Given the description of an element on the screen output the (x, y) to click on. 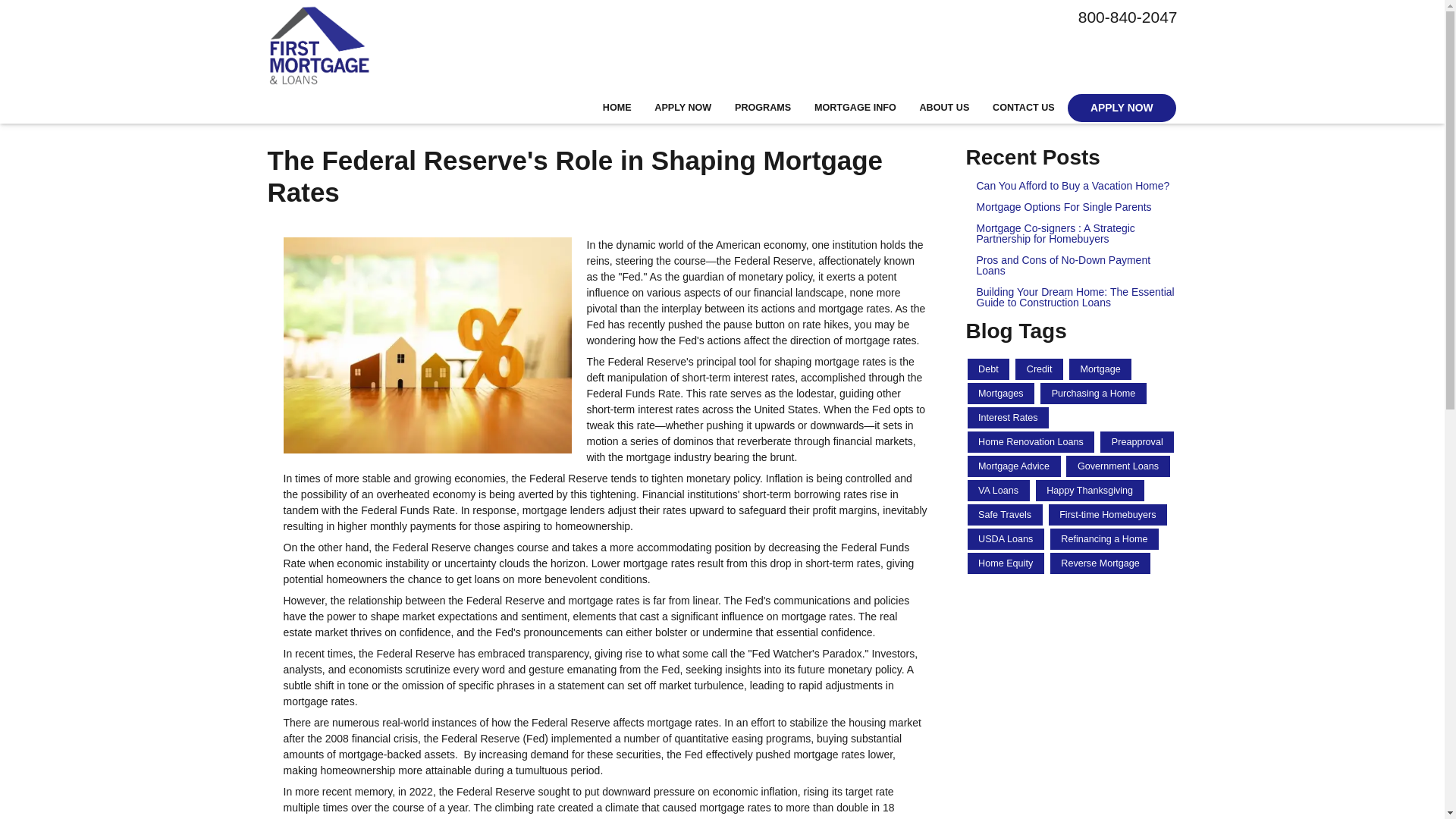
Credit (1038, 369)
APPLY NOW (683, 107)
ABOUT US (944, 107)
Pros and Cons of No-Down Payment Loans (1071, 265)
Purchasing a Home (1094, 393)
MORTGAGE INFO (855, 107)
Mortgages (1001, 393)
PROGRAMS (763, 107)
Mortgage Options For Single Parents (1071, 206)
Mortgage (1099, 369)
Mortgage Co-signers : A Strategic Partnership for Homebuyers (1071, 233)
HOME (617, 107)
CONTACT US (1023, 107)
Can You Afford to Buy a Vacation Home? (1071, 185)
